Given the description of an element on the screen output the (x, y) to click on. 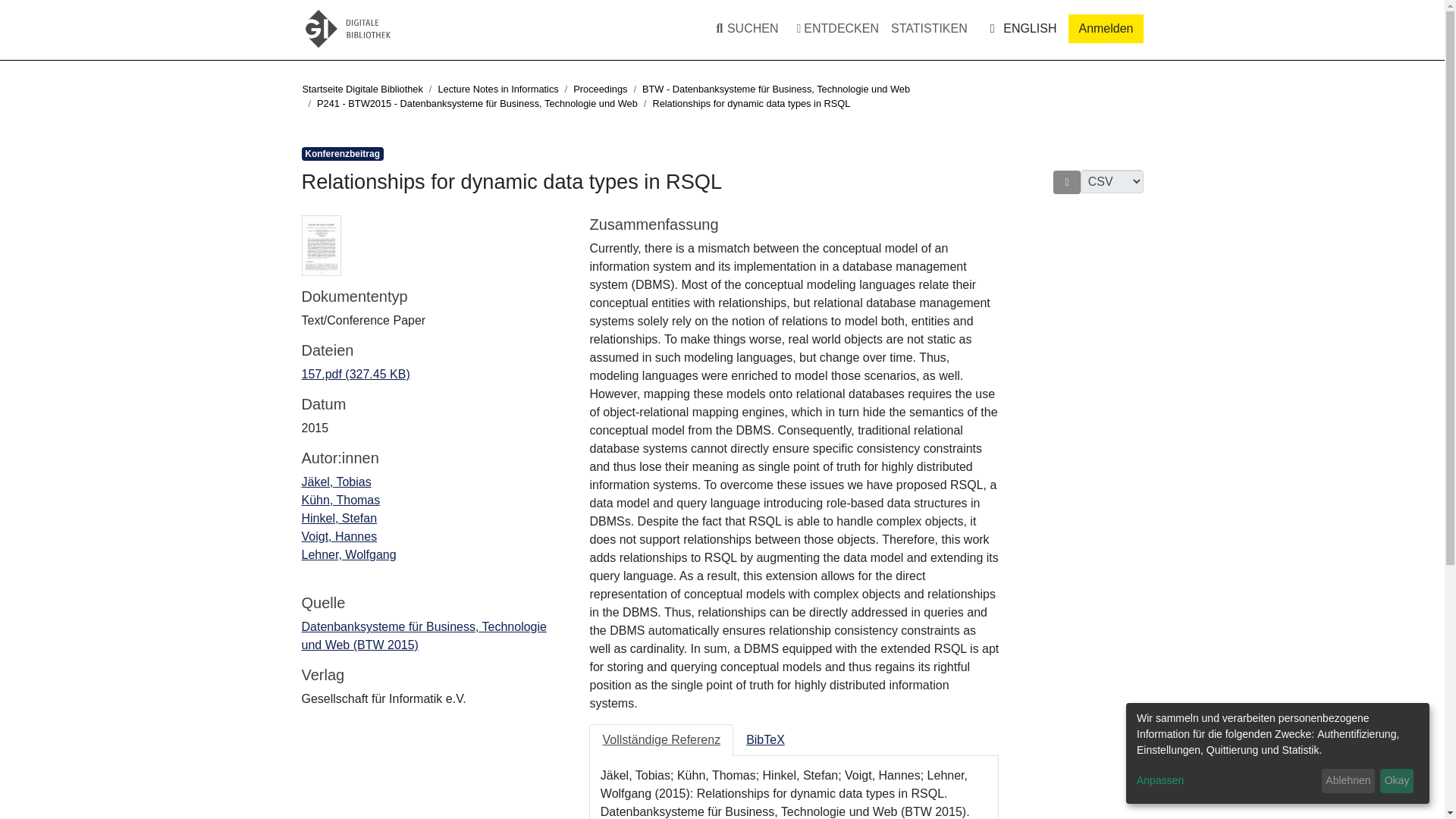
ENGLISH (1021, 28)
Suchen (733, 28)
Proceedings (600, 89)
ENTDECKEN (837, 28)
SUCHEN (743, 28)
BibTeX (765, 739)
Hinkel, Stefan (339, 517)
Lecture Notes in Informatics (497, 89)
STATISTIKEN (929, 28)
Statistiken (929, 28)
